Given the description of an element on the screen output the (x, y) to click on. 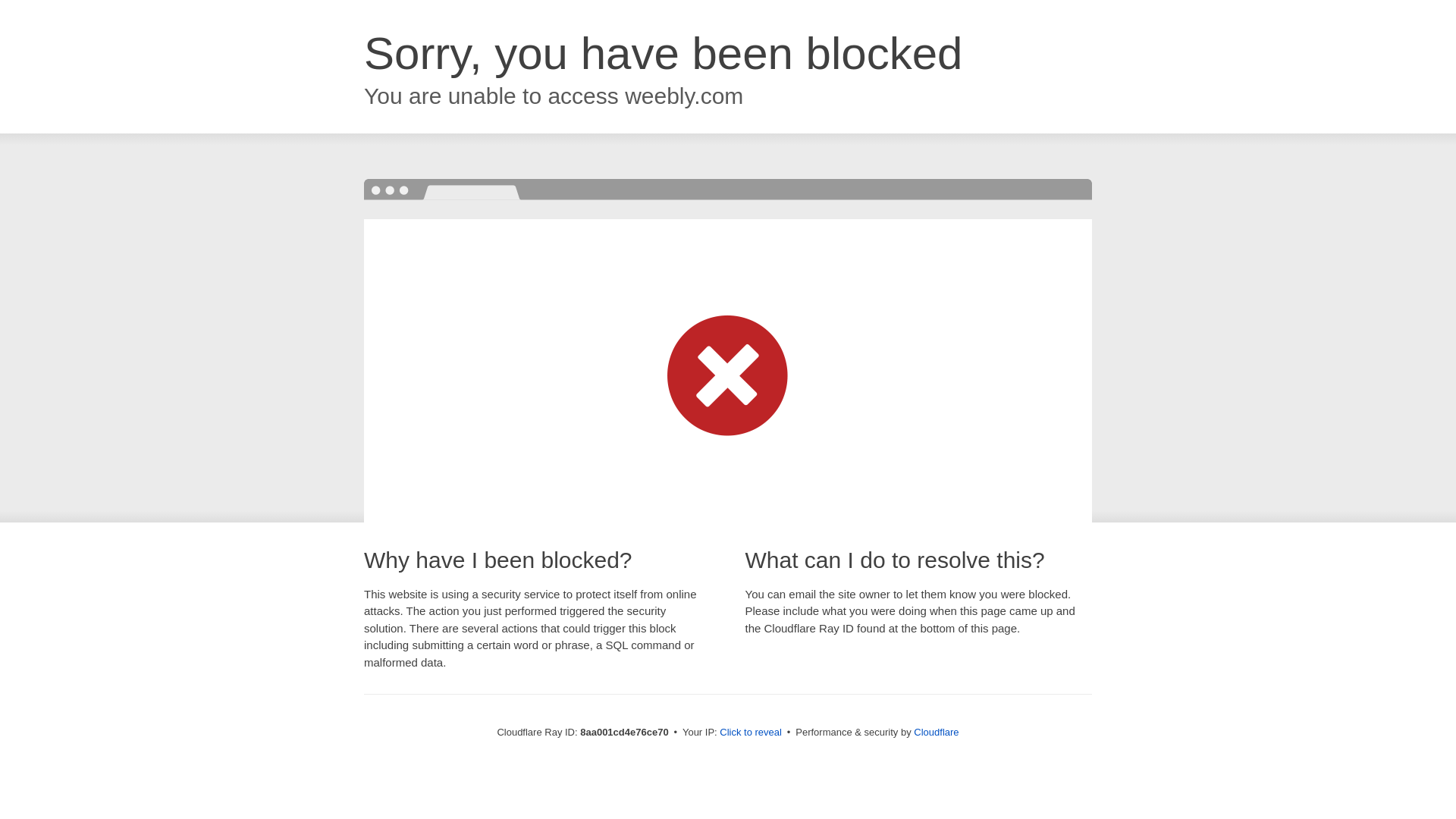
Click to reveal (750, 732)
Cloudflare (936, 731)
